Given the description of an element on the screen output the (x, y) to click on. 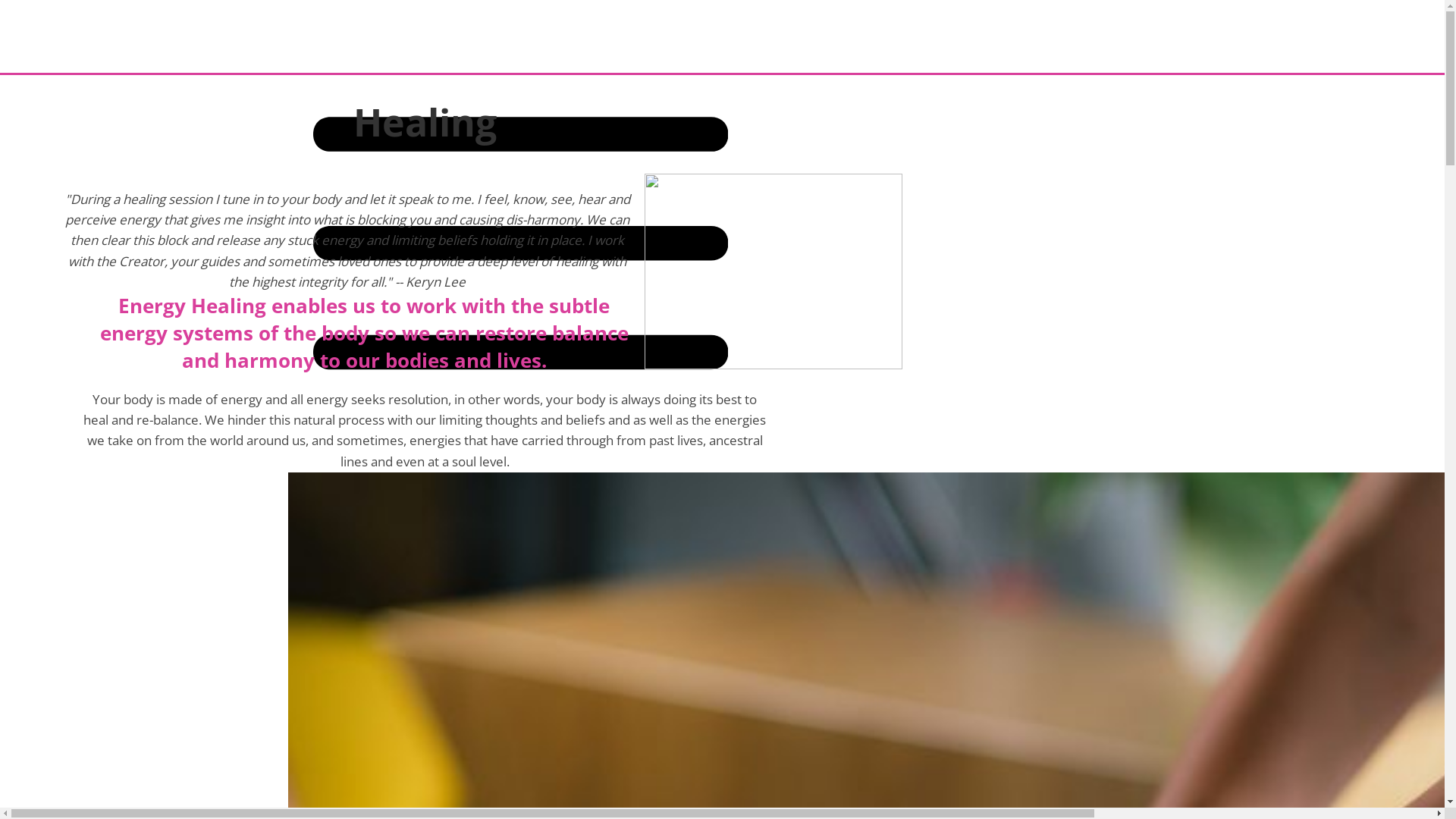
klh photo shoot sml Element type: hover (773, 271)
